Given the description of an element on the screen output the (x, y) to click on. 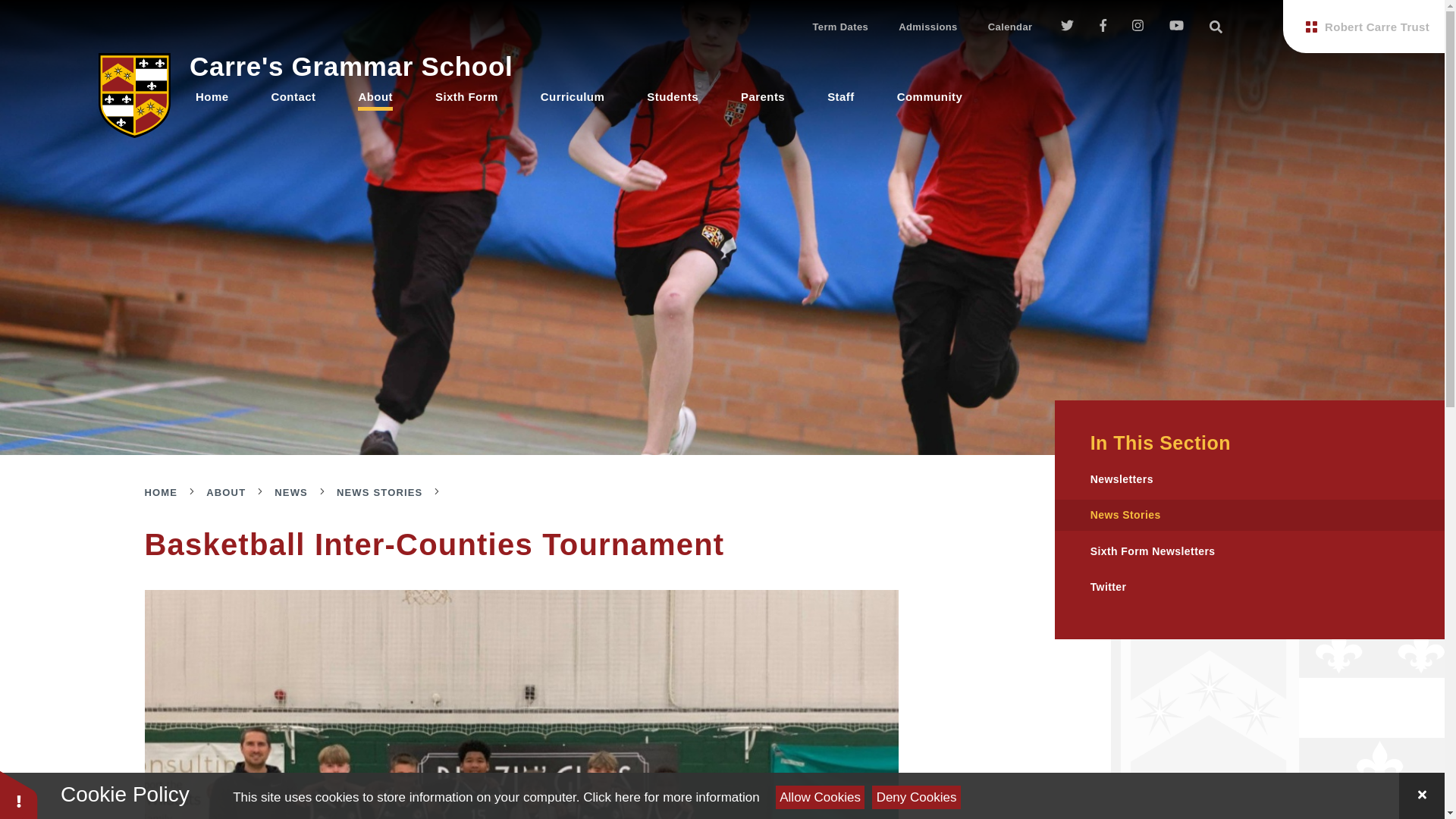
Calendar (1010, 26)
About (375, 96)
Contact (293, 96)
Home (211, 96)
Deny Cookies (915, 797)
See cookie policy (670, 797)
Allow Cookies (820, 797)
Search (1216, 25)
Term Dates (839, 26)
Admissions (927, 26)
